Given the description of an element on the screen output the (x, y) to click on. 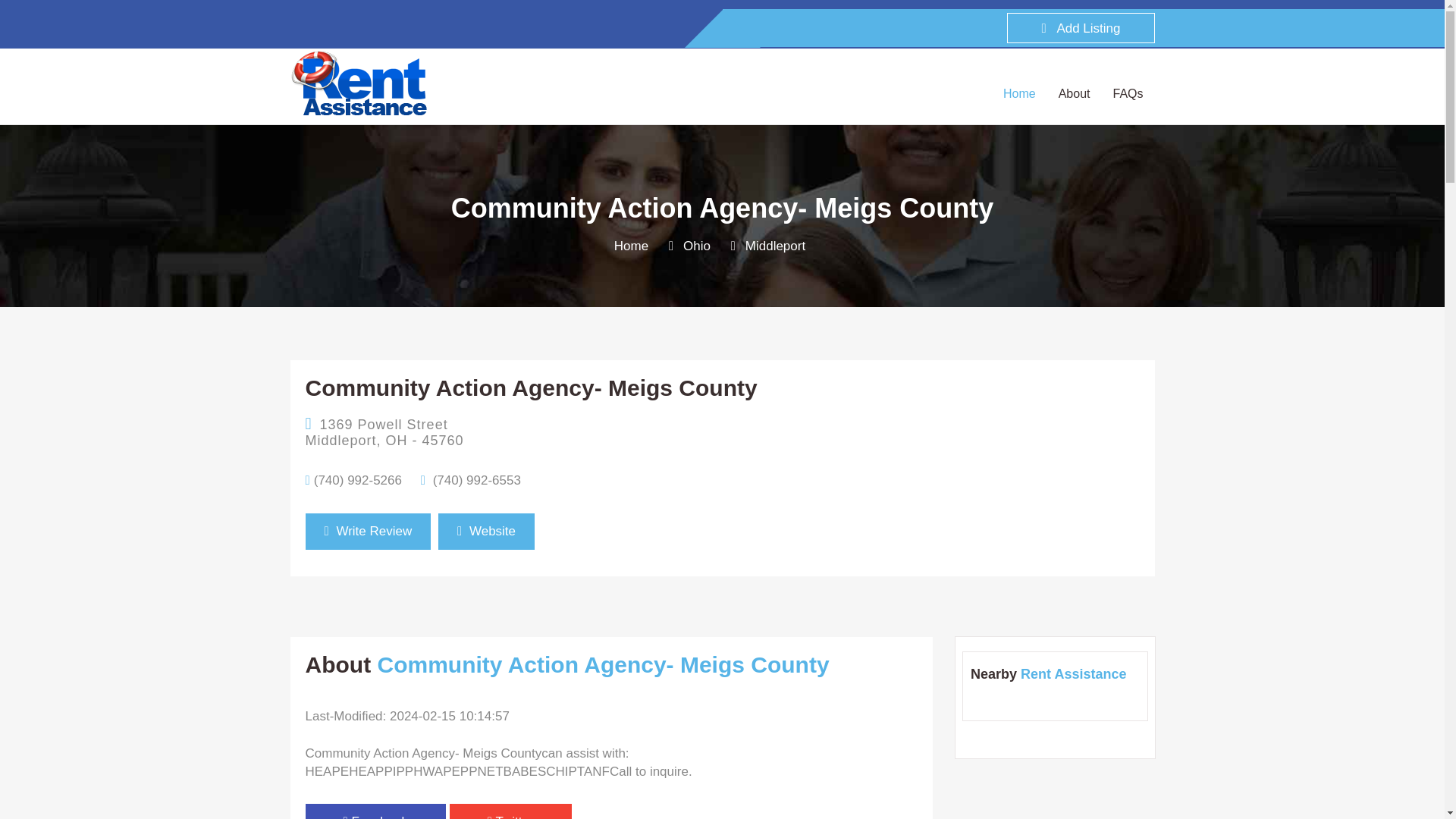
Add Listing (1080, 28)
Middleport (775, 246)
Ohio (696, 246)
Twitter (510, 811)
Write Review (367, 531)
Website (486, 531)
Home (630, 246)
Facebook (374, 811)
